Given the description of an element on the screen output the (x, y) to click on. 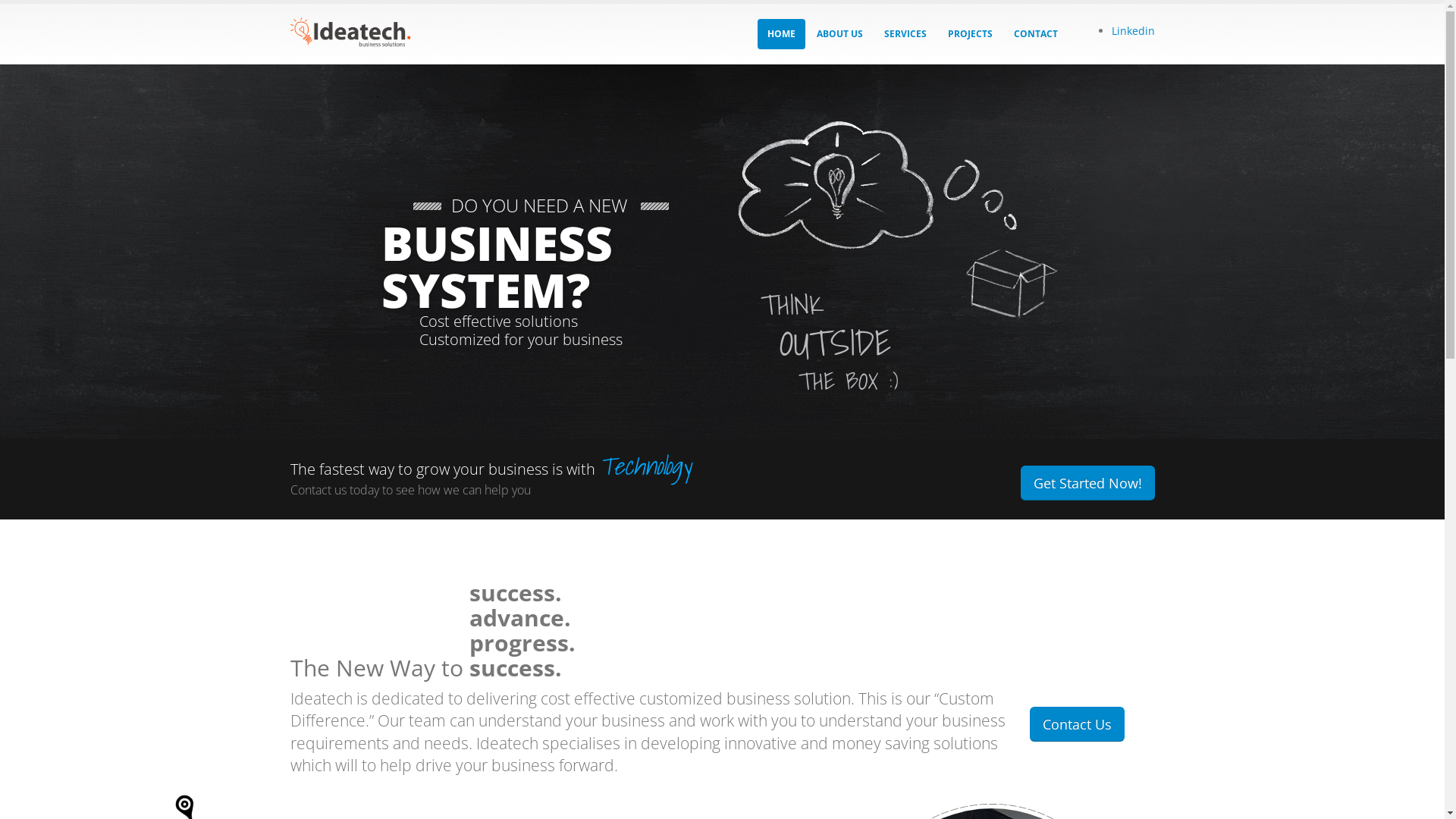
SERVICES Element type: text (904, 33)
ABOUT US Element type: text (839, 33)
HOME Element type: text (780, 33)
Contact Us Element type: text (1076, 723)
Get Started Now! Element type: text (1087, 482)
PROJECTS Element type: text (969, 33)
Linkedin Element type: text (1132, 30)
CONTACT Element type: text (1035, 33)
